Given the description of an element on the screen output the (x, y) to click on. 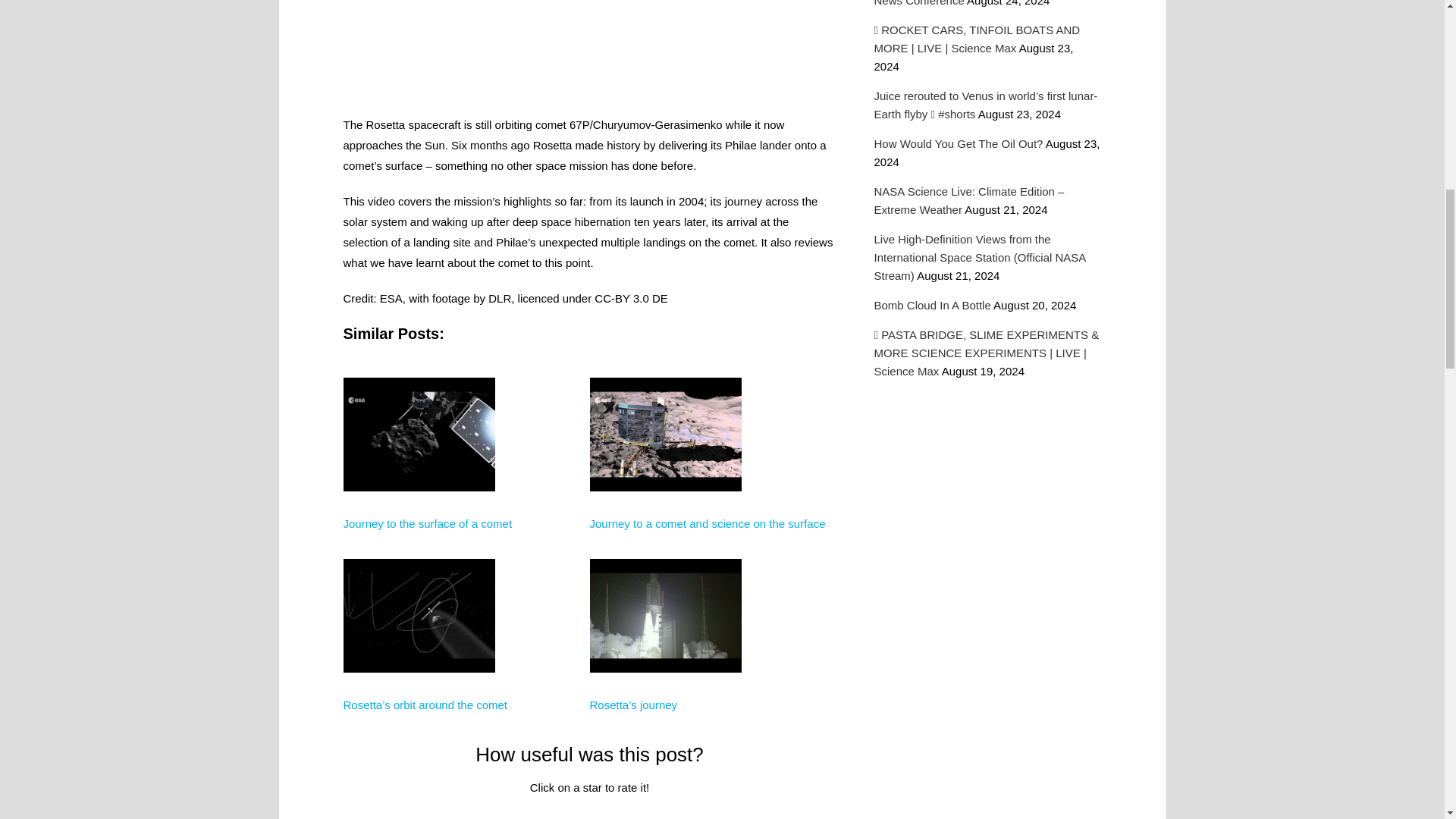
Journey (665, 546)
Journey (418, 546)
Journey to a comet and science on the surface (707, 522)
Journey to the surface of a comet (427, 522)
Journey to a comet and science on the surface (707, 522)
Journey to the surface of a comet (427, 522)
